Given the description of an element on the screen output the (x, y) to click on. 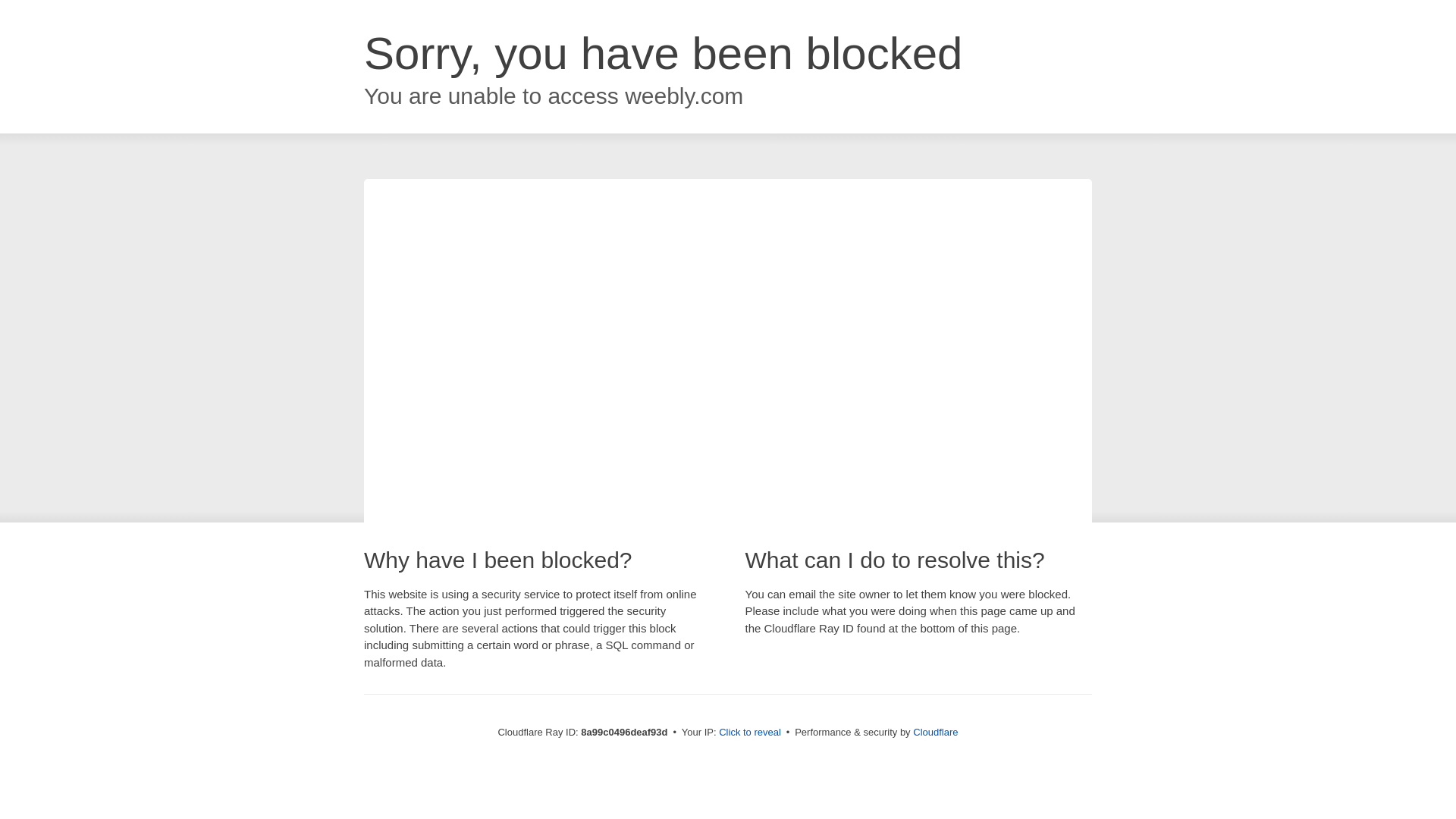
Cloudflare (935, 731)
Click to reveal (749, 732)
